Given the description of an element on the screen output the (x, y) to click on. 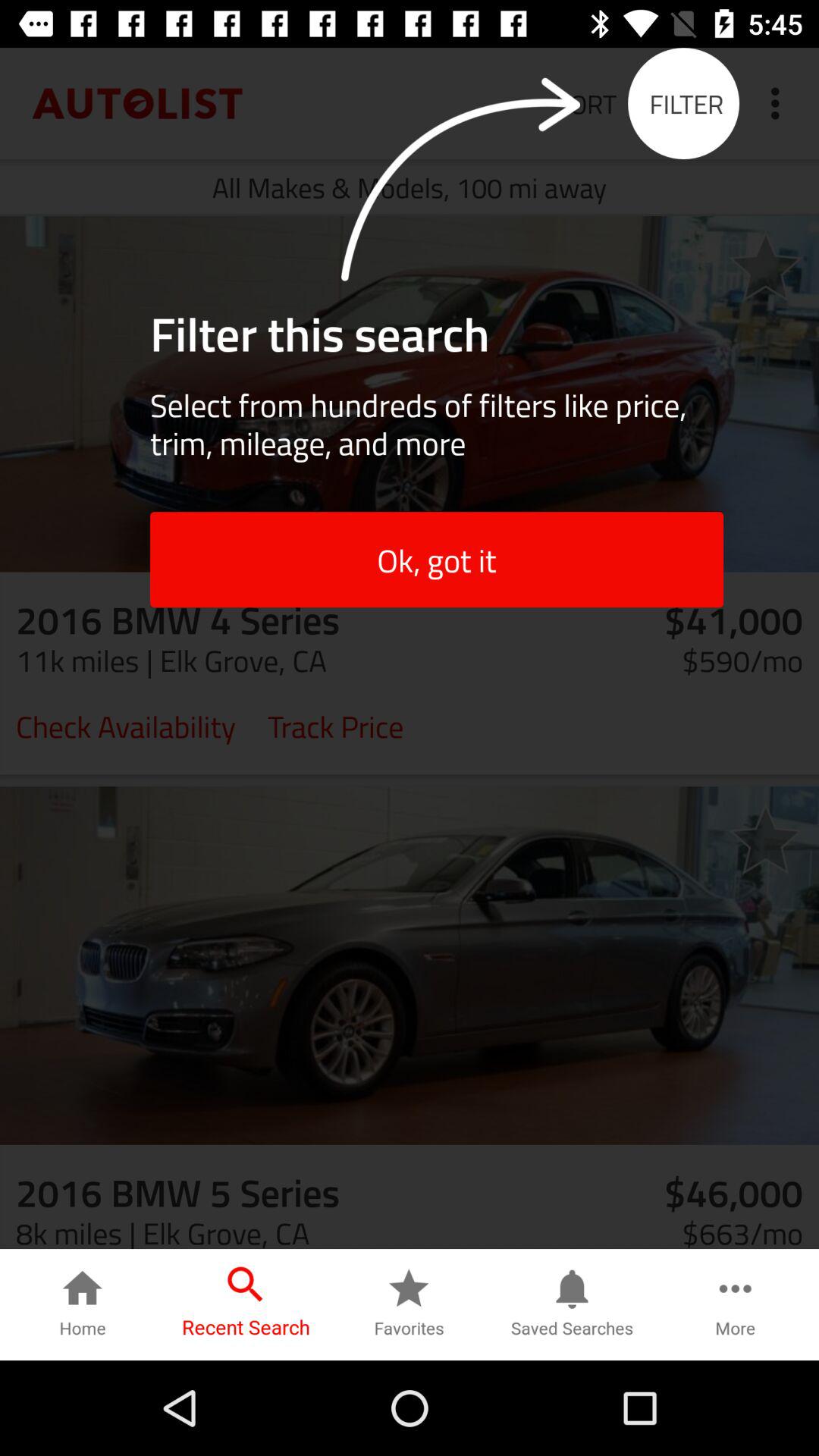
press the item next to the filter item (779, 103)
